Given the description of an element on the screen output the (x, y) to click on. 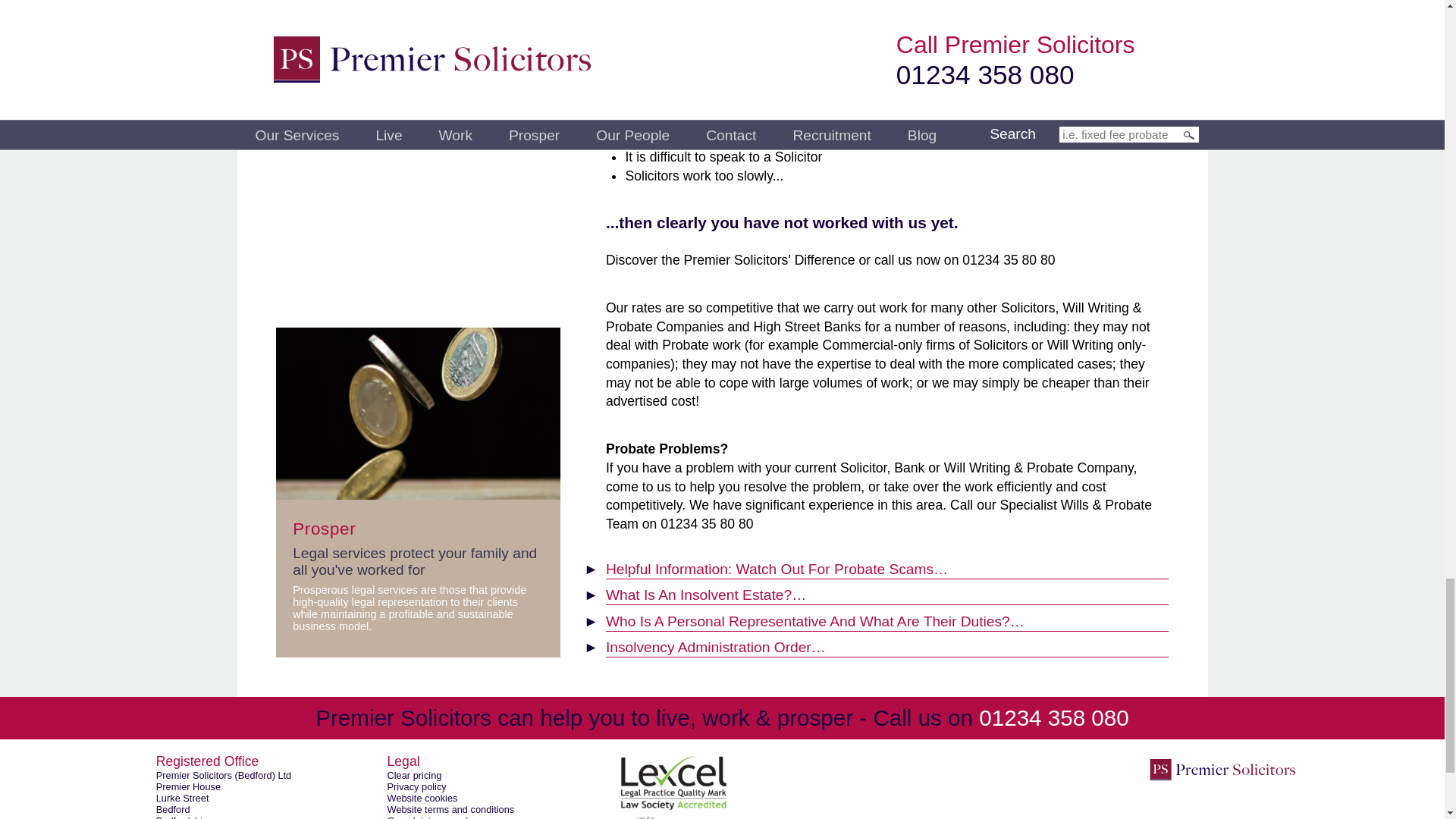
Copyright 2024 Premier Solicitors (1222, 768)
Click to reveal text and read more... (887, 592)
Click to reveal text and read more... (887, 618)
Click to reveal text and read more... (887, 644)
Click to reveal text and read more... (887, 565)
